Given the description of an element on the screen output the (x, y) to click on. 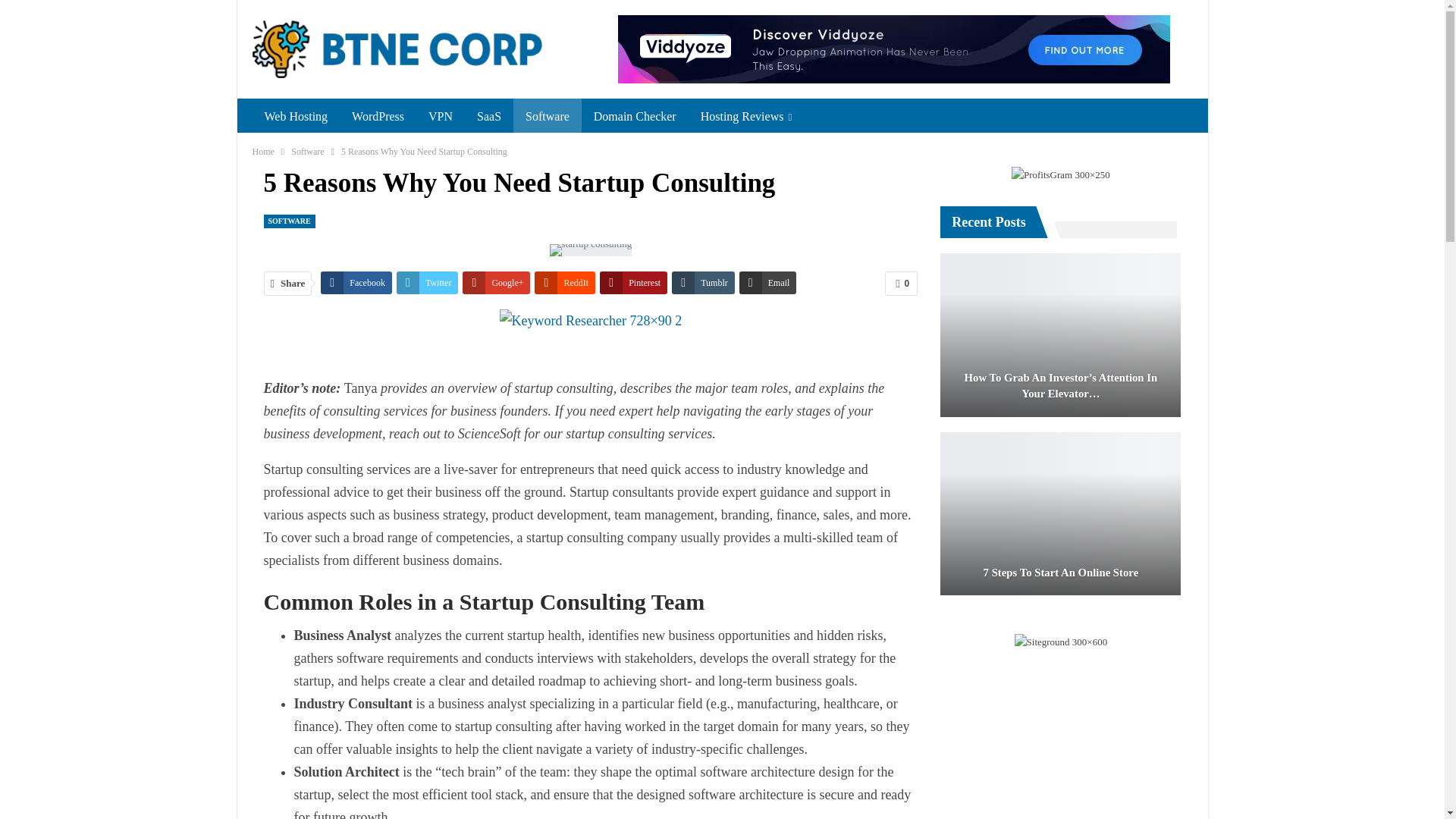
Software (546, 116)
Hosting Reviews (746, 116)
Software (307, 151)
Tumblr (703, 282)
VPN (440, 116)
Twitter (427, 282)
Web Hosting (295, 116)
ReddIt (564, 282)
SaaS (488, 116)
Pinterest (632, 282)
Domain Checker (634, 116)
Email (767, 282)
SOFTWARE (289, 220)
Home (262, 151)
0 (901, 283)
